Given the description of an element on the screen output the (x, y) to click on. 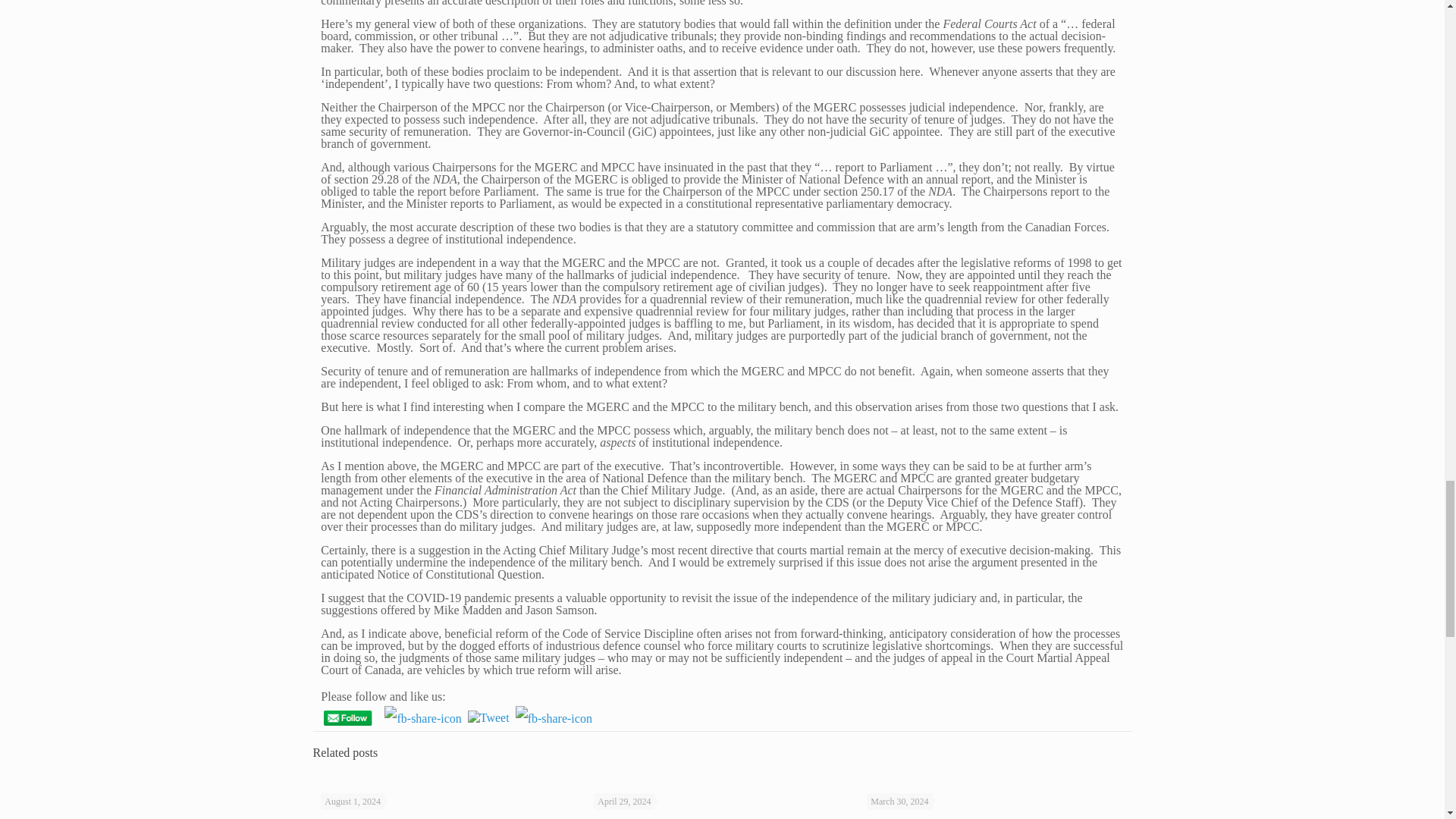
Pin Share (553, 718)
Tweet (488, 717)
Facebook Share (422, 718)
